Given the description of an element on the screen output the (x, y) to click on. 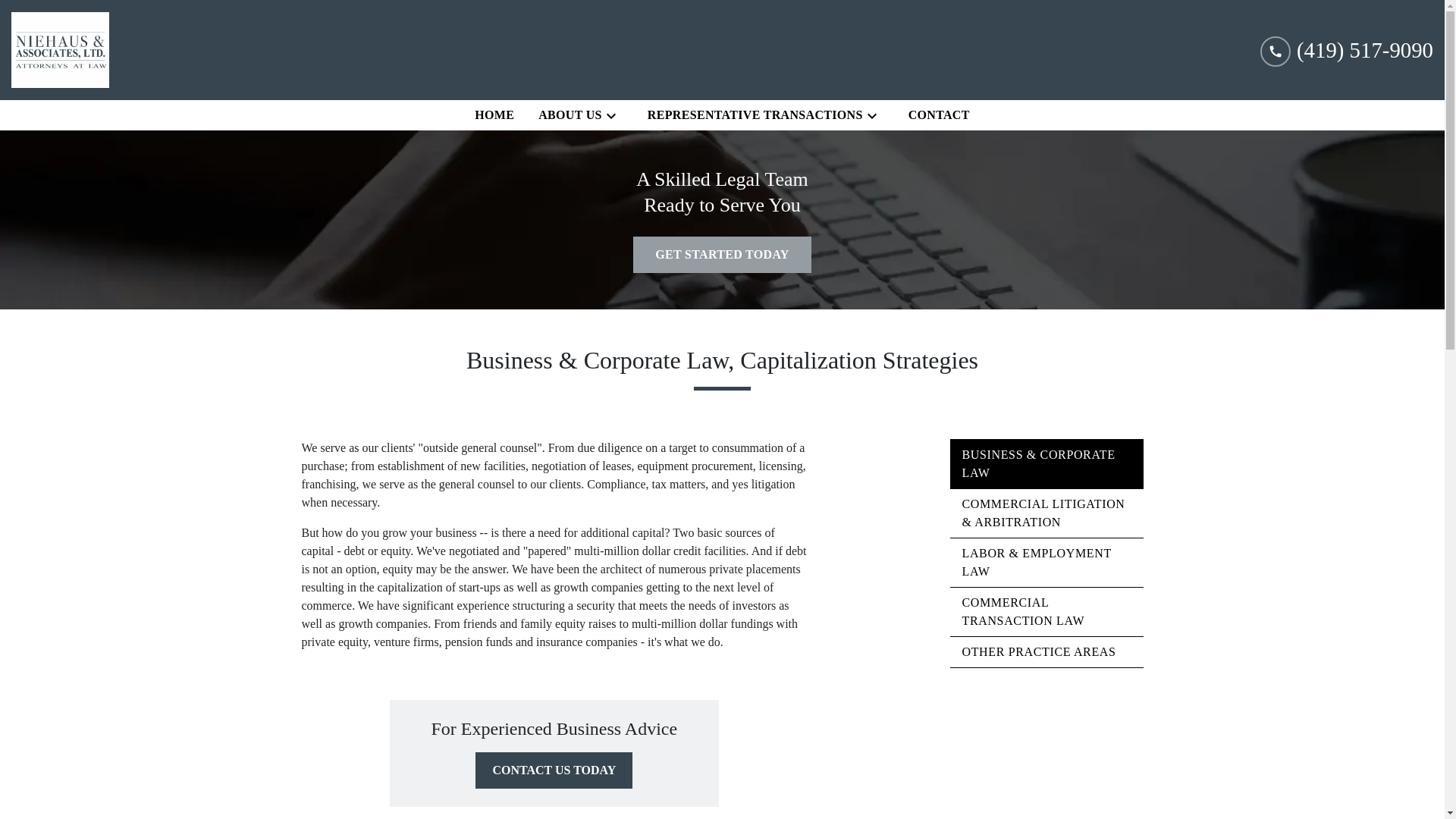
REPRESENTATIVE TRANSACTIONS (752, 114)
OTHER PRACTICE AREAS (1045, 652)
HOME (493, 114)
CONTACT US TODAY (553, 770)
CONTACT (938, 114)
GET STARTED TODAY (721, 254)
ABOUT US (567, 114)
COMMERCIAL TRANSACTION LAW (1045, 612)
